Given the description of an element on the screen output the (x, y) to click on. 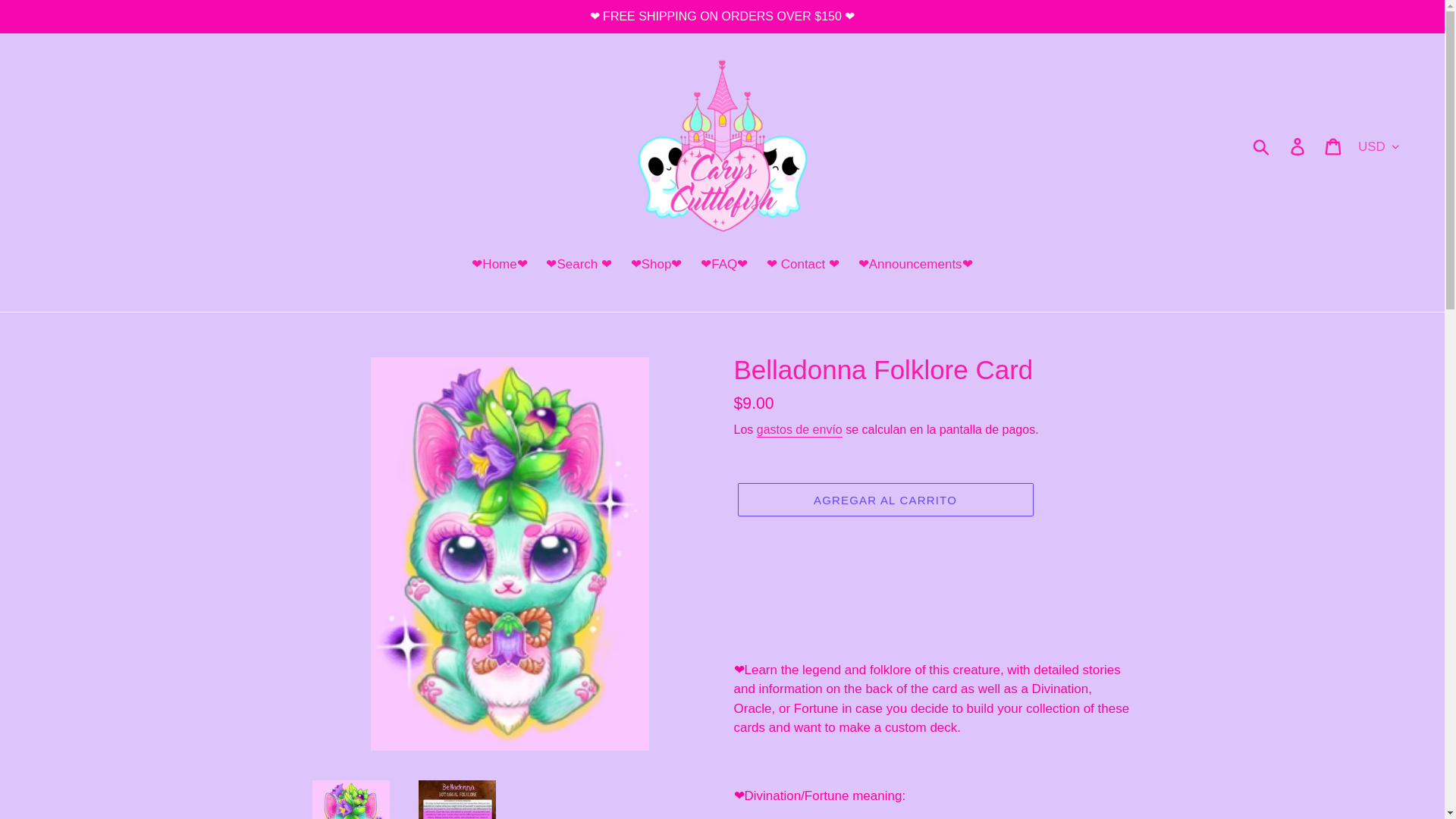
AGREGAR AL CARRITO (884, 499)
Carrito (1334, 145)
Buscar (1262, 145)
Ingresar (1298, 145)
